Given the description of an element on the screen output the (x, y) to click on. 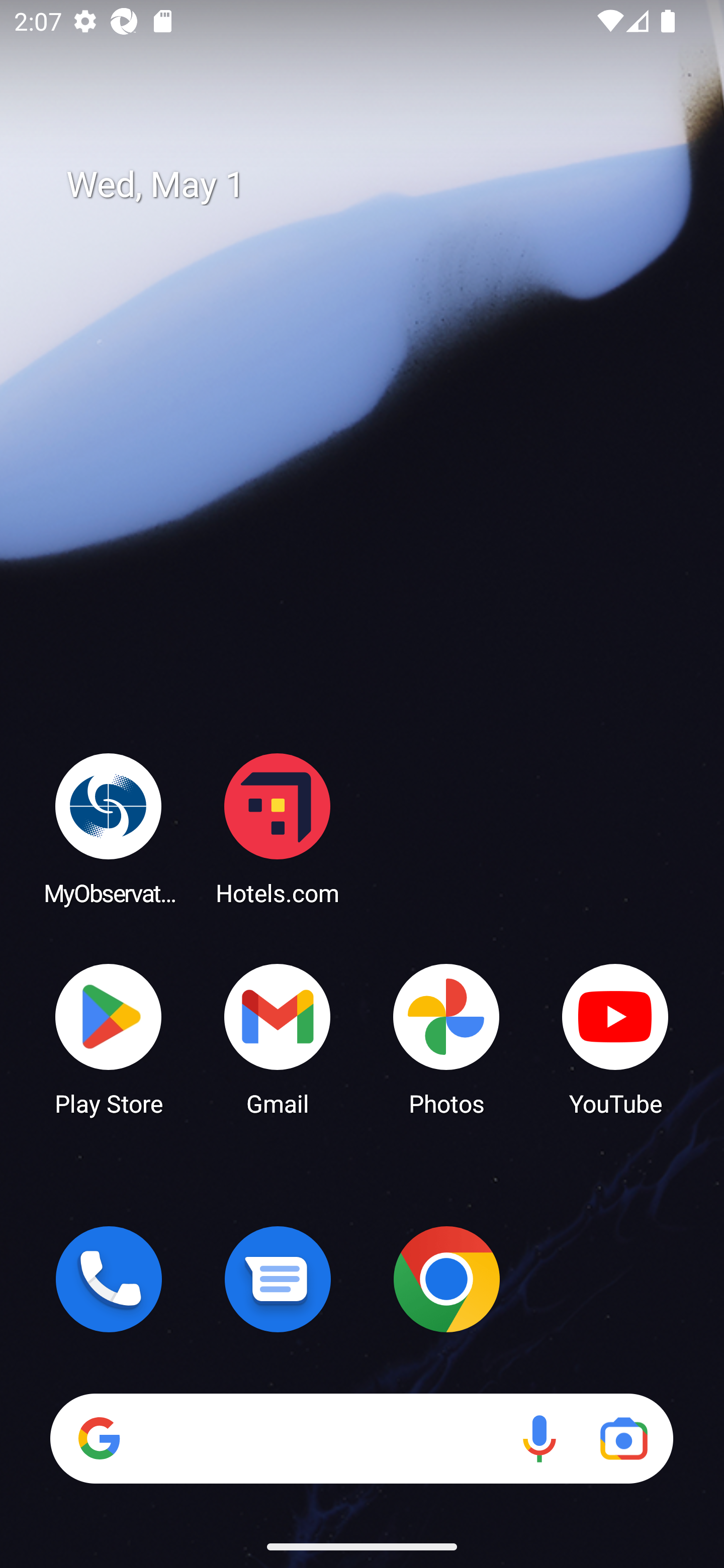
Wed, May 1 (375, 184)
MyObservatory (108, 828)
Hotels.com (277, 828)
Play Store (108, 1038)
Gmail (277, 1038)
Photos (445, 1038)
YouTube (615, 1038)
Phone (108, 1279)
Messages (277, 1279)
Chrome (446, 1279)
Search Voice search Google Lens (361, 1438)
Voice search (539, 1438)
Google Lens (623, 1438)
